Given the description of an element on the screen output the (x, y) to click on. 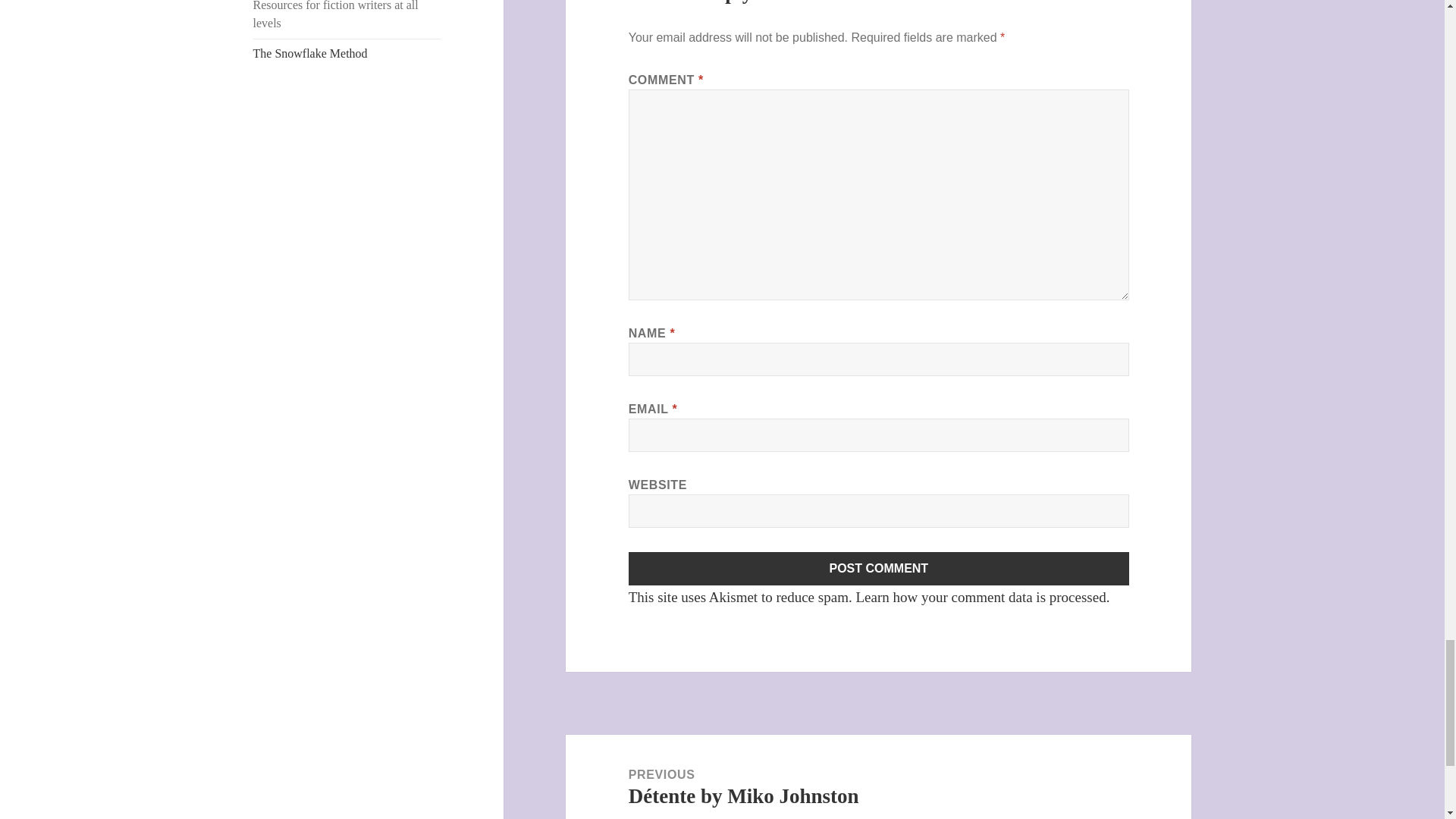
Post Comment (878, 568)
